Given the description of an element on the screen output the (x, y) to click on. 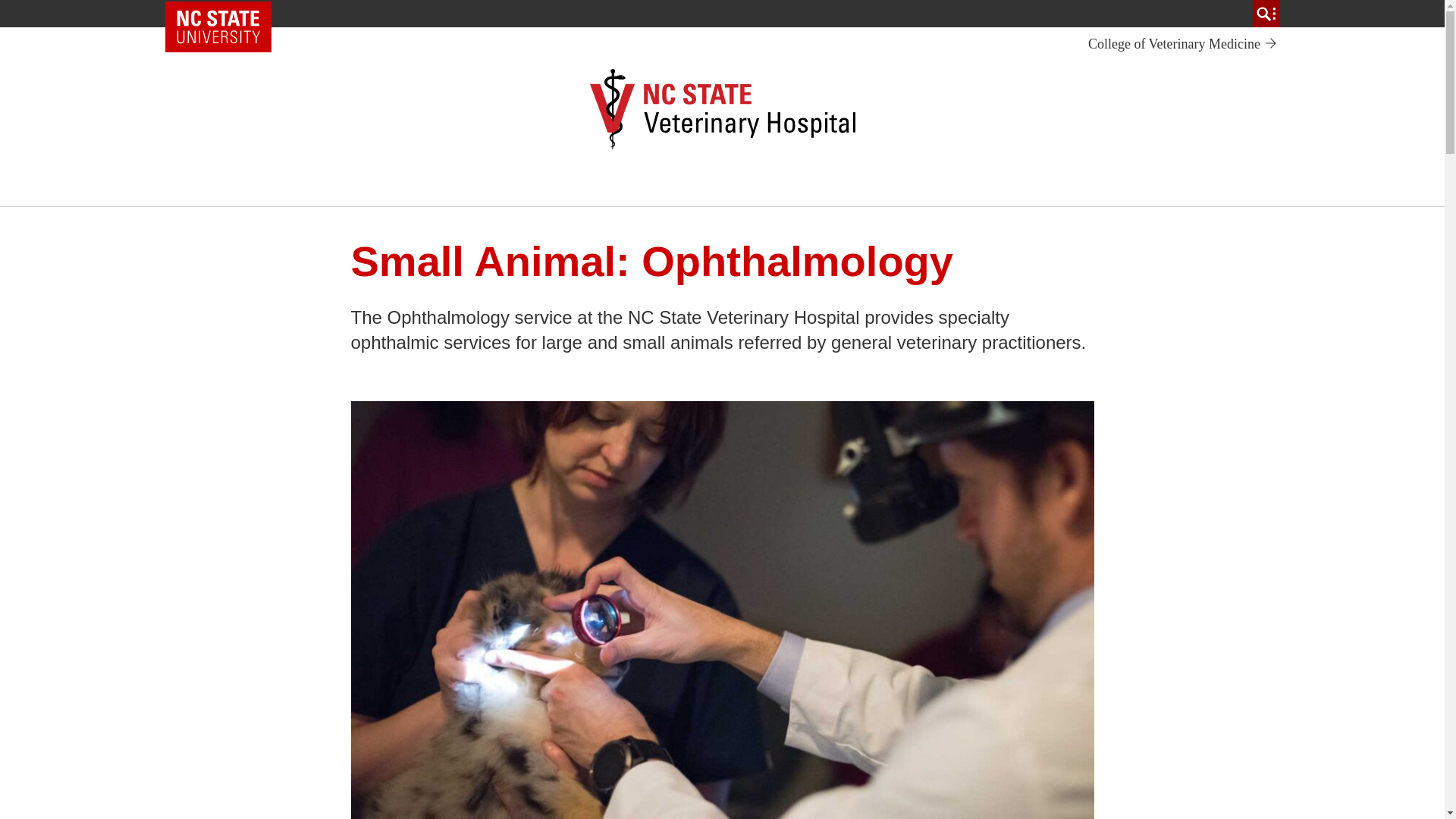
NC State Home (217, 26)
